Given the description of an element on the screen output the (x, y) to click on. 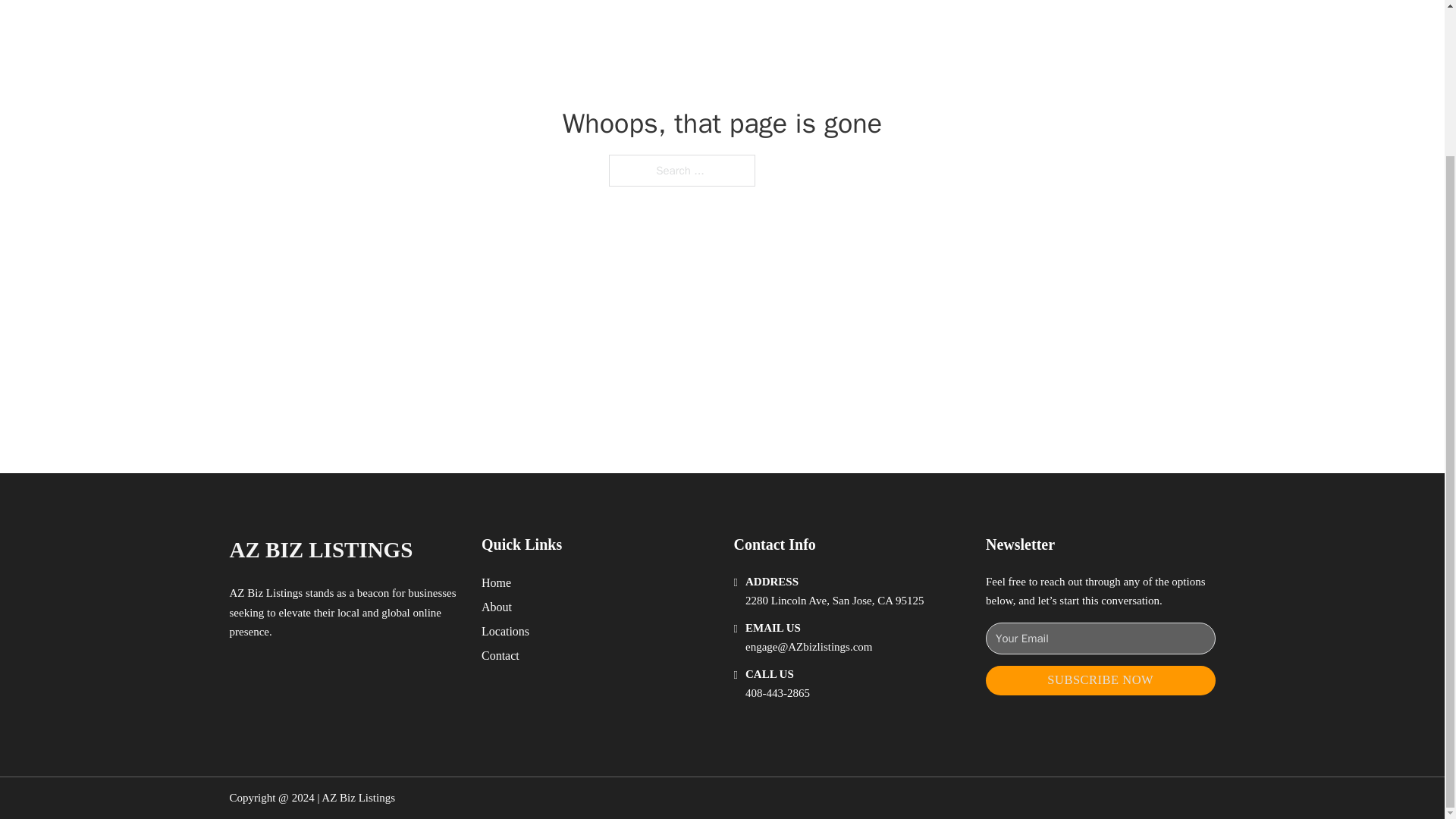
AZ BIZ LISTINGS (320, 549)
Locations (505, 630)
408-443-2865 (777, 693)
Home (496, 582)
SUBSCRIBE NOW (1100, 680)
Contact (500, 655)
About (496, 607)
